Given the description of an element on the screen output the (x, y) to click on. 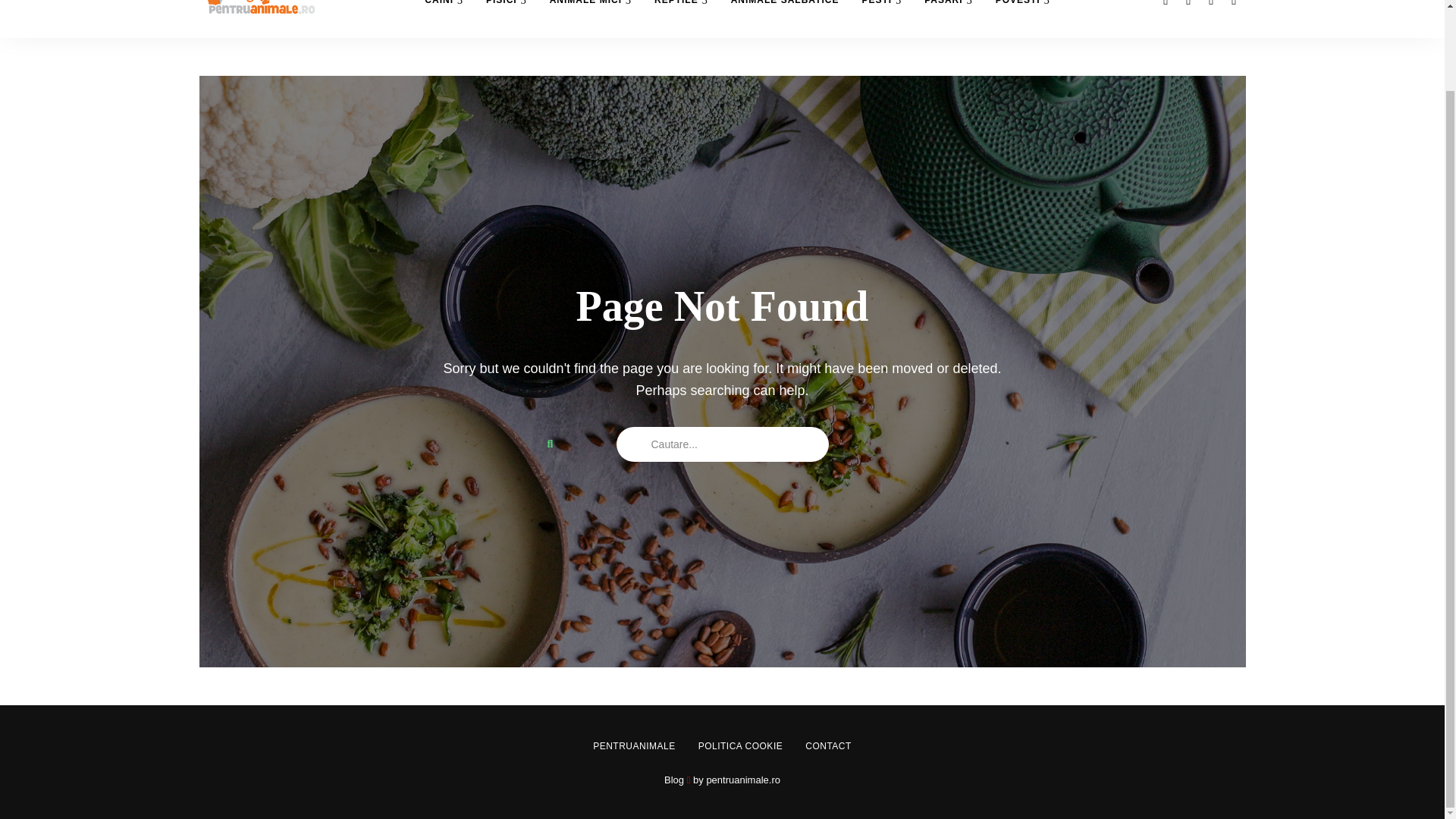
REPTILE (681, 18)
ANIMALE MICI (590, 18)
PISICI (506, 18)
PESTI (881, 18)
PASARI (948, 18)
ANIMALE SALBATICE (784, 18)
CAINI (443, 18)
POVESTI (1022, 18)
